Given the description of an element on the screen output the (x, y) to click on. 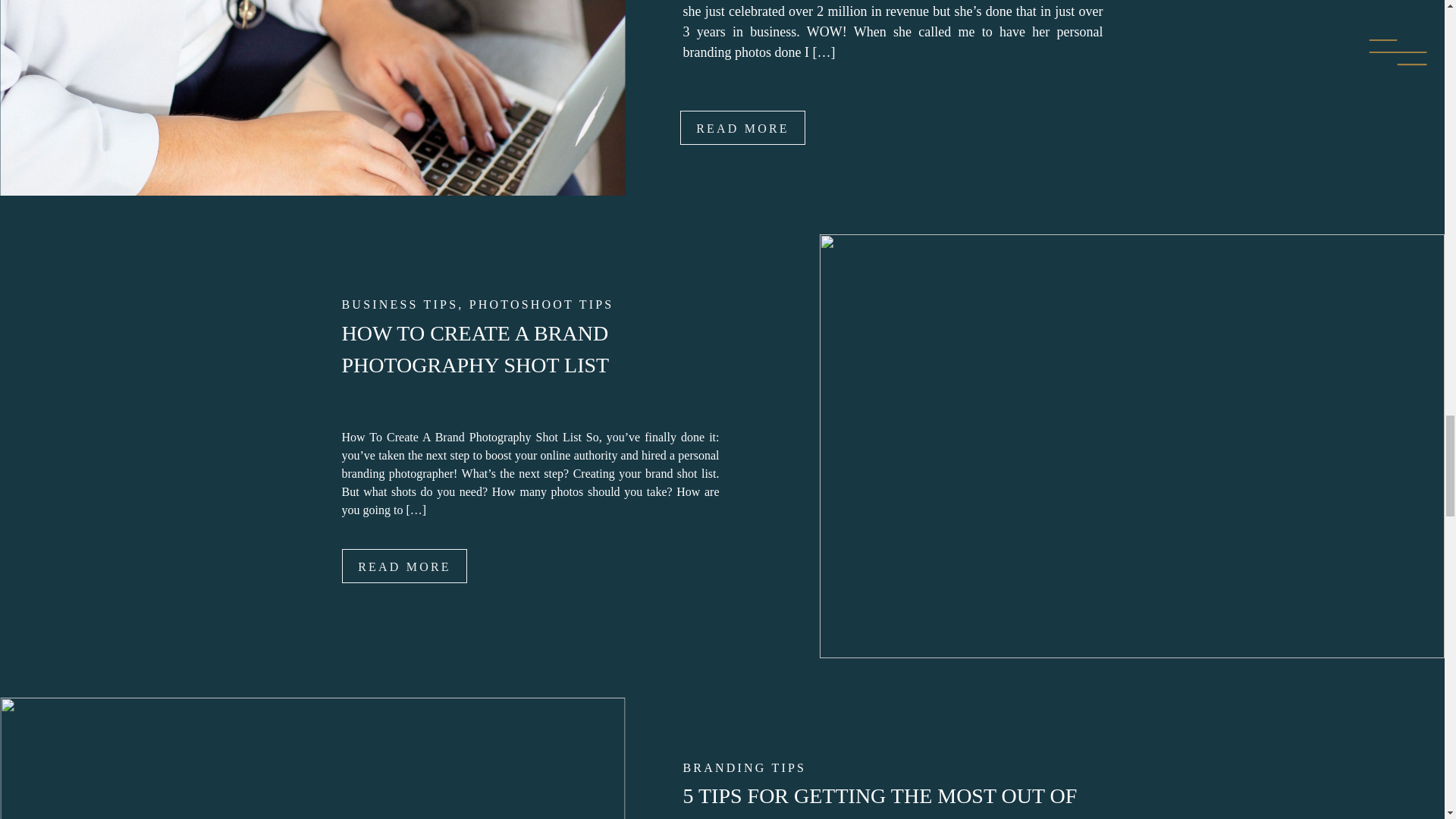
READ MORE (742, 127)
READ MORE (403, 565)
BRANDING TIPS (744, 767)
PHOTOSHOOT TIPS (541, 304)
How To Create a Brand Photography Shot List (403, 565)
BUSINESS TIPS (399, 304)
HOW TO CREATE A BRAND PHOTOGRAPHY SHOT LIST (474, 348)
